Given the description of an element on the screen output the (x, y) to click on. 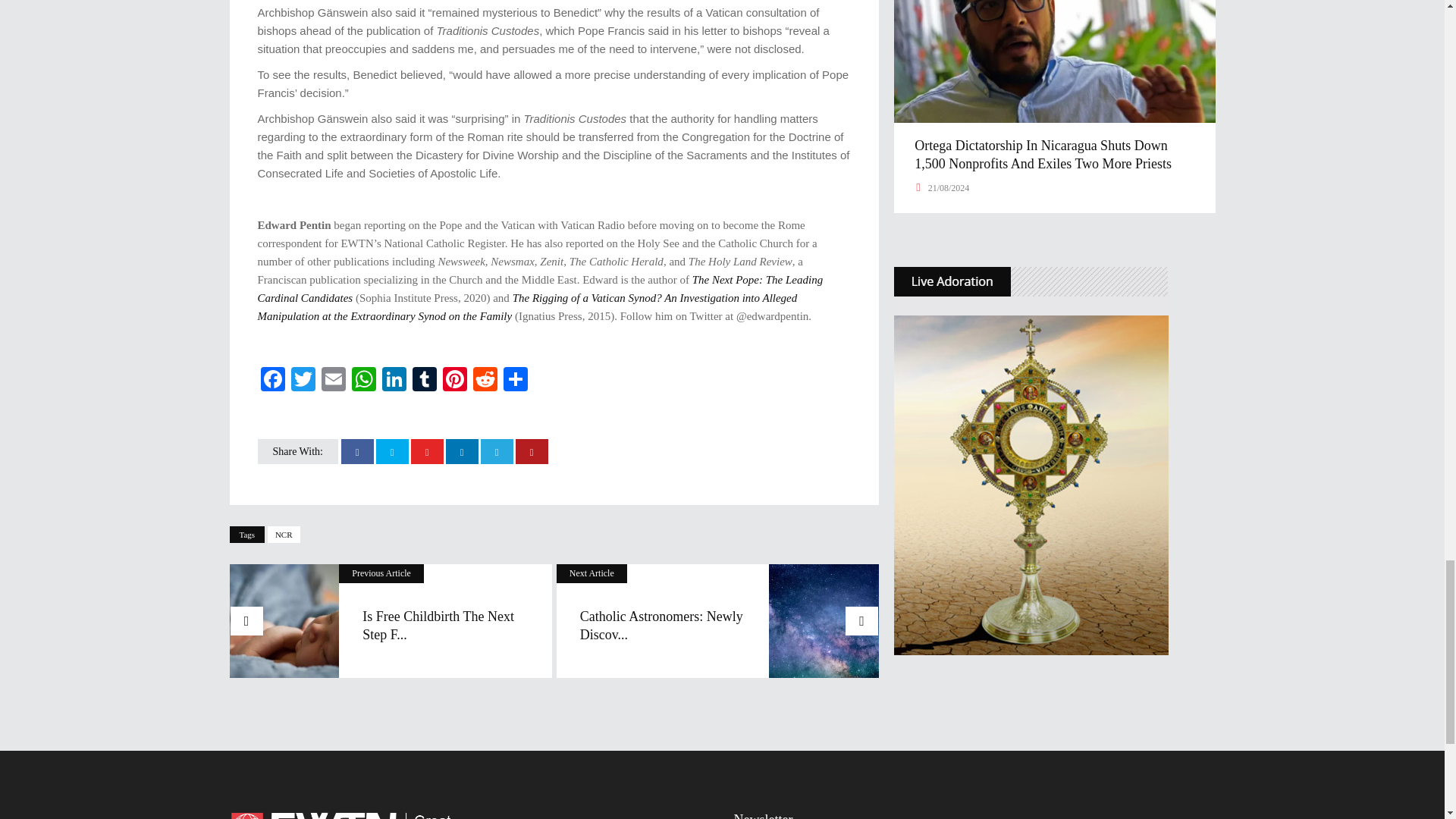
Reddit (485, 380)
Twitter (303, 380)
Pinterest (454, 380)
Facebook (272, 380)
Tumblr (424, 380)
Email (333, 380)
WhatsApp (363, 380)
LinkedIn (393, 380)
